Given the description of an element on the screen output the (x, y) to click on. 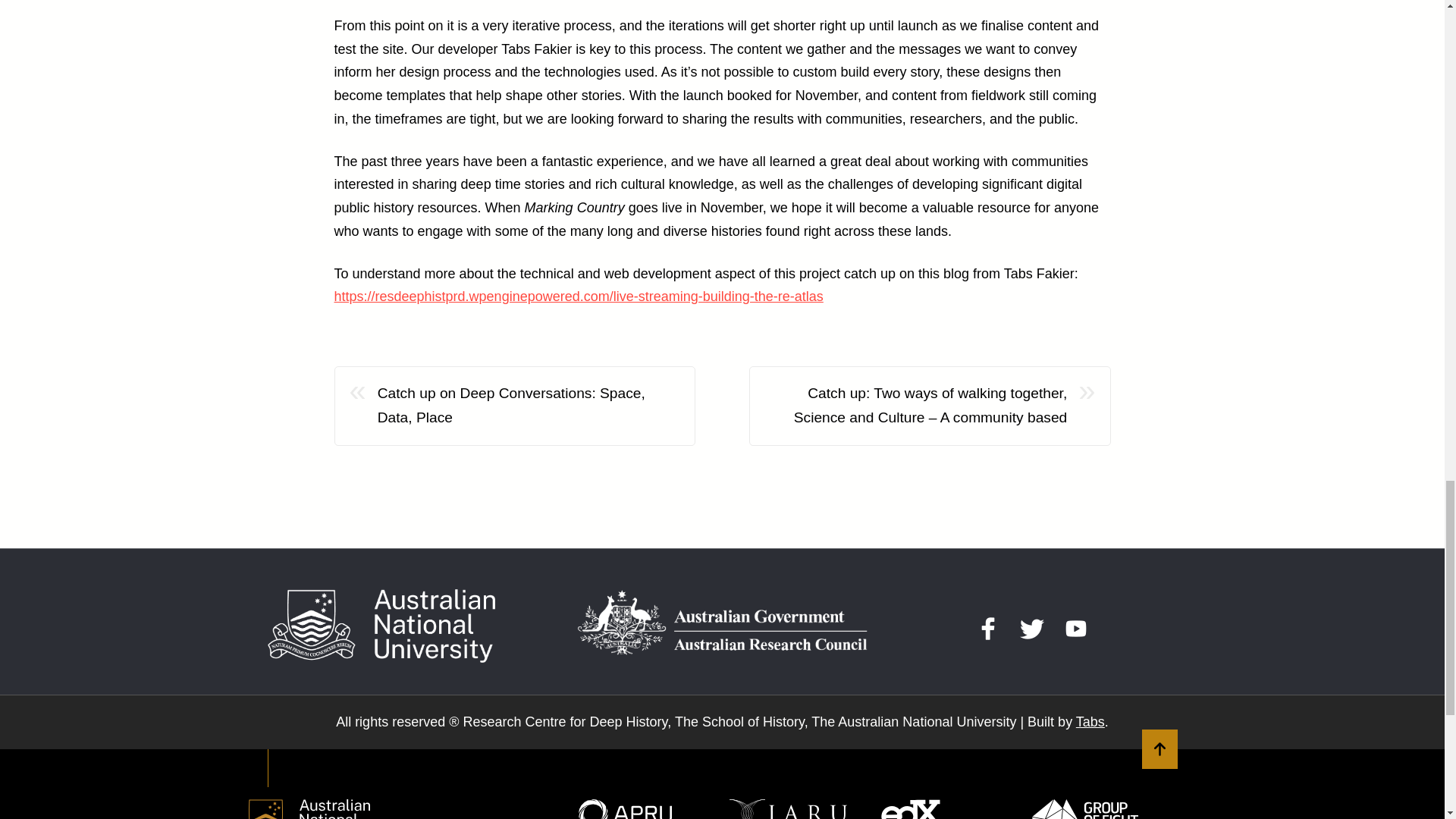
Catch up on Deep Conversations: Space, Data, Place (528, 405)
Back to top (1159, 749)
Tabs (1090, 721)
